Given the description of an element on the screen output the (x, y) to click on. 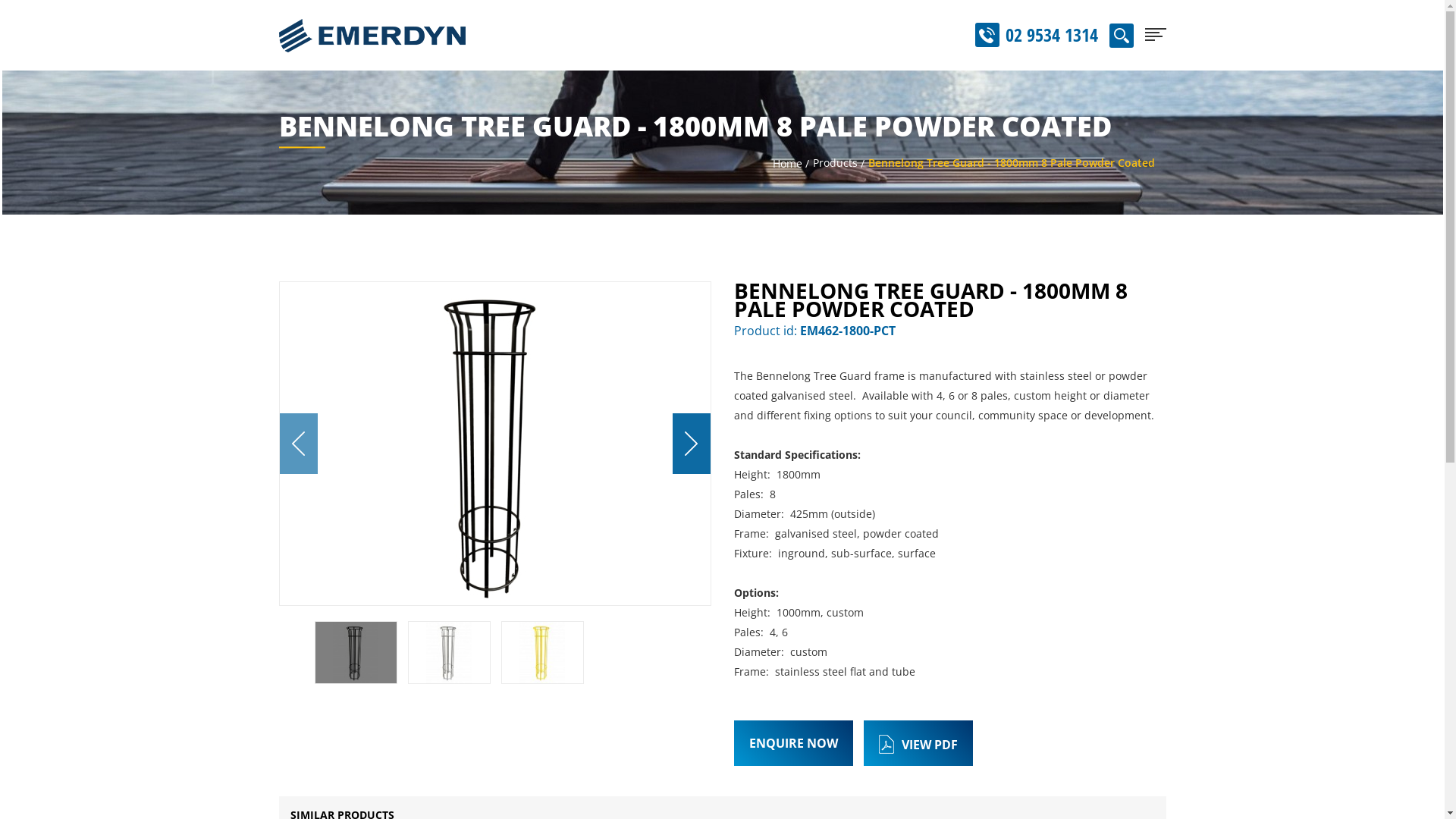
Bennelong Tree Guard Powdercoated - 1800mm Tall with 8 Pales Element type: hover (355, 655)
Bennelong Tree Guard Powdercoated - 1800mm Tall with 8 Pales Element type: hover (494, 443)
VIEW PDF Element type: text (917, 742)
ENQUIRE NOW Element type: text (793, 742)
Previous Element type: text (297, 443)
Emerdyn Element type: hover (372, 35)
Next Element type: text (690, 443)
Home Element type: text (786, 163)
Products Element type: text (834, 162)
